Given the description of an element on the screen output the (x, y) to click on. 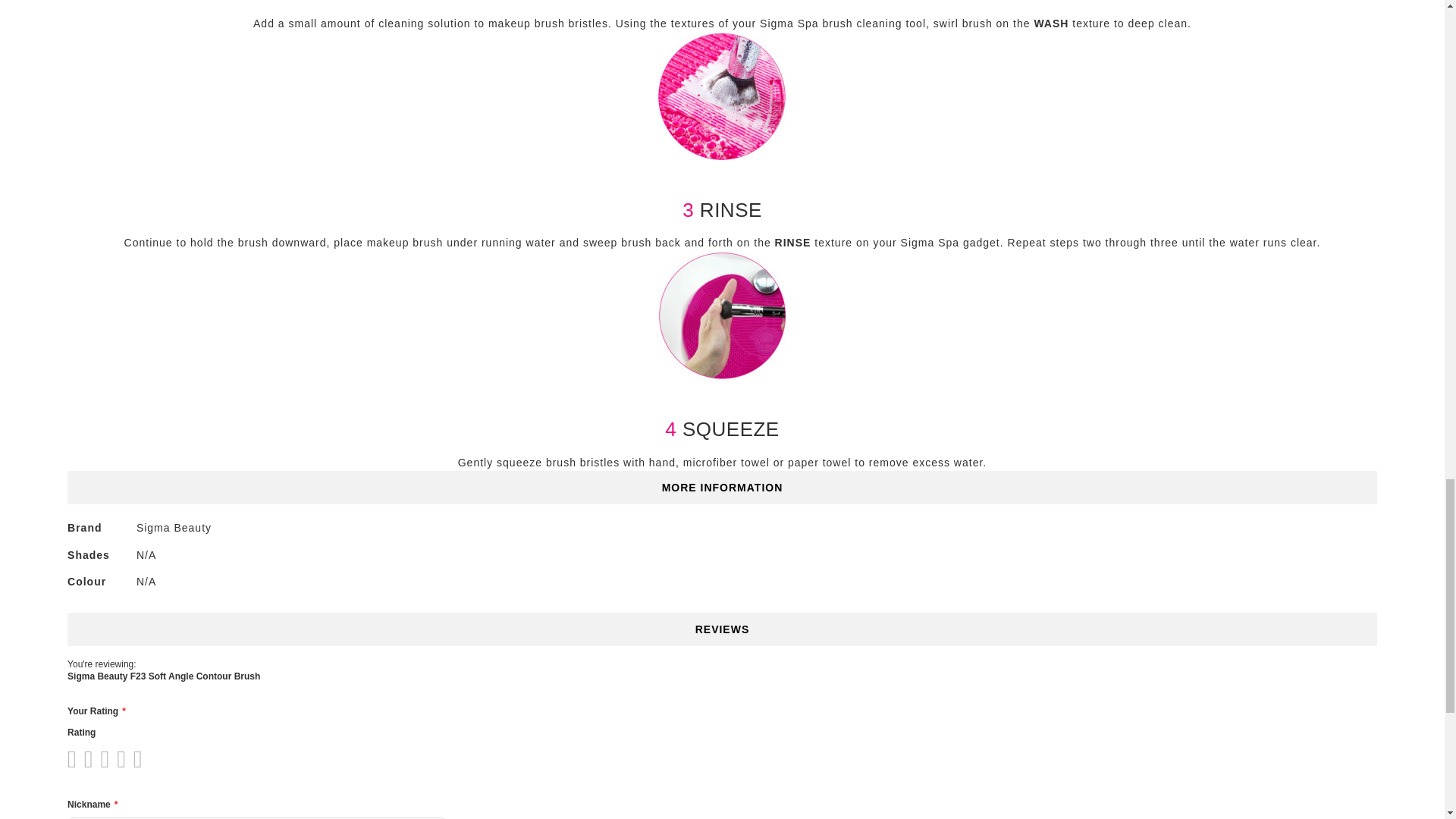
3 stars (91, 758)
5 stars (107, 758)
2 stars (83, 758)
4 stars (99, 758)
